Given the description of an element on the screen output the (x, y) to click on. 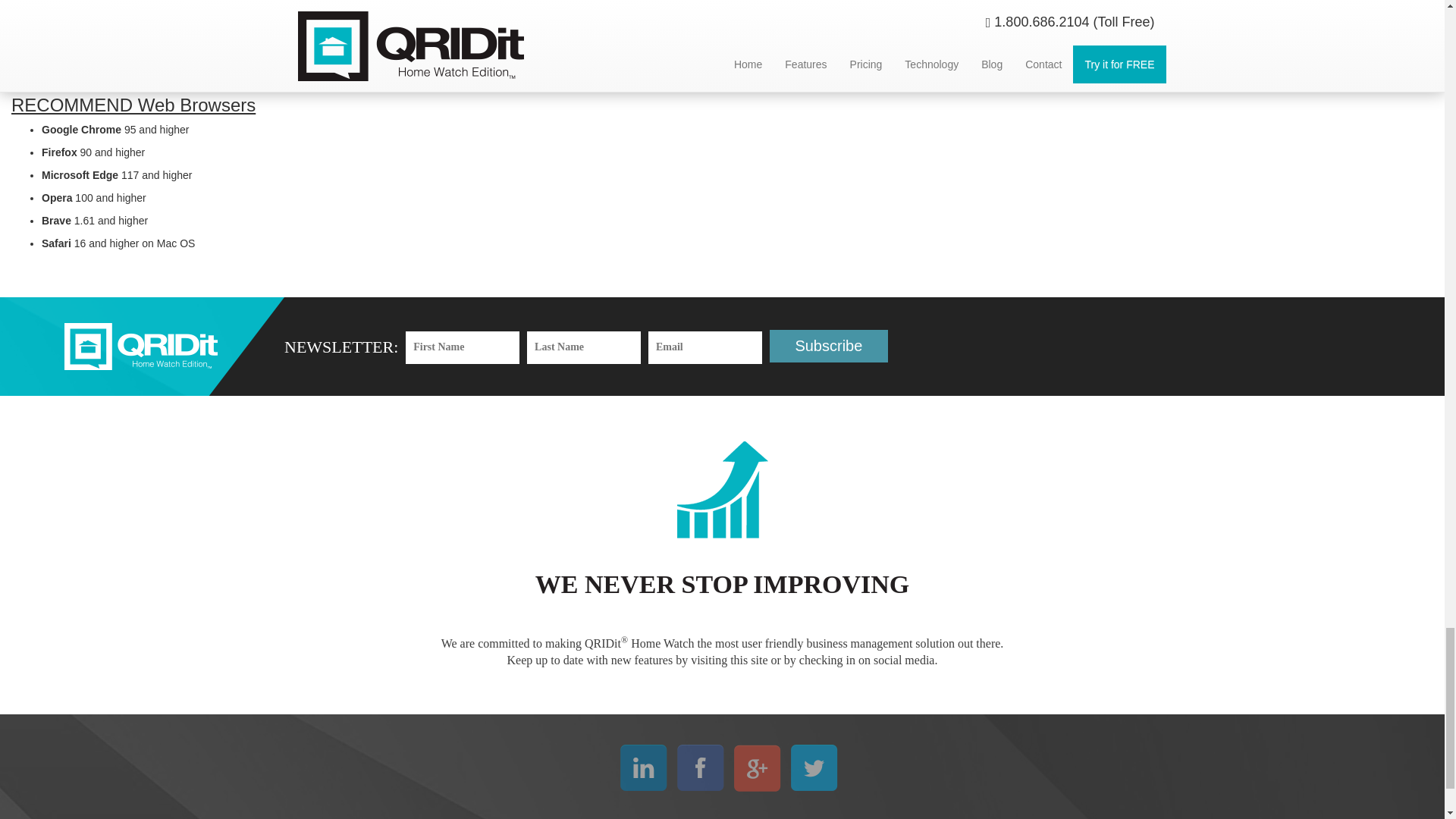
Subscribe (829, 346)
Subscribe (829, 346)
